Given the description of an element on the screen output the (x, y) to click on. 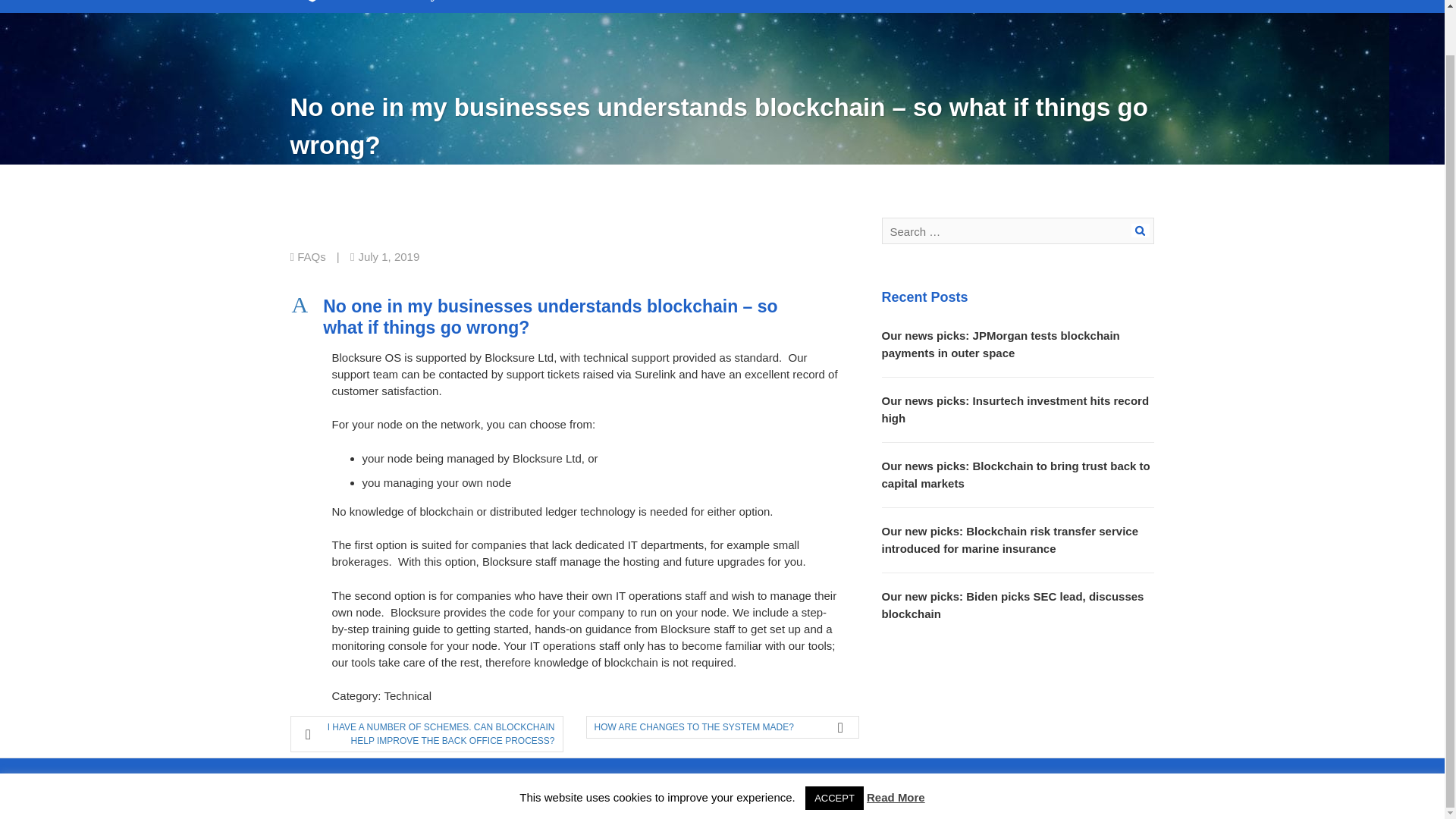
Search (1140, 230)
Read More (895, 748)
LinkedIn (743, 778)
FAQs (311, 256)
Privacy Policy (603, 778)
Search (1140, 230)
Our news picks: Insurtech investment hits record high (1014, 409)
ACCEPT (834, 750)
